Given the description of an element on the screen output the (x, y) to click on. 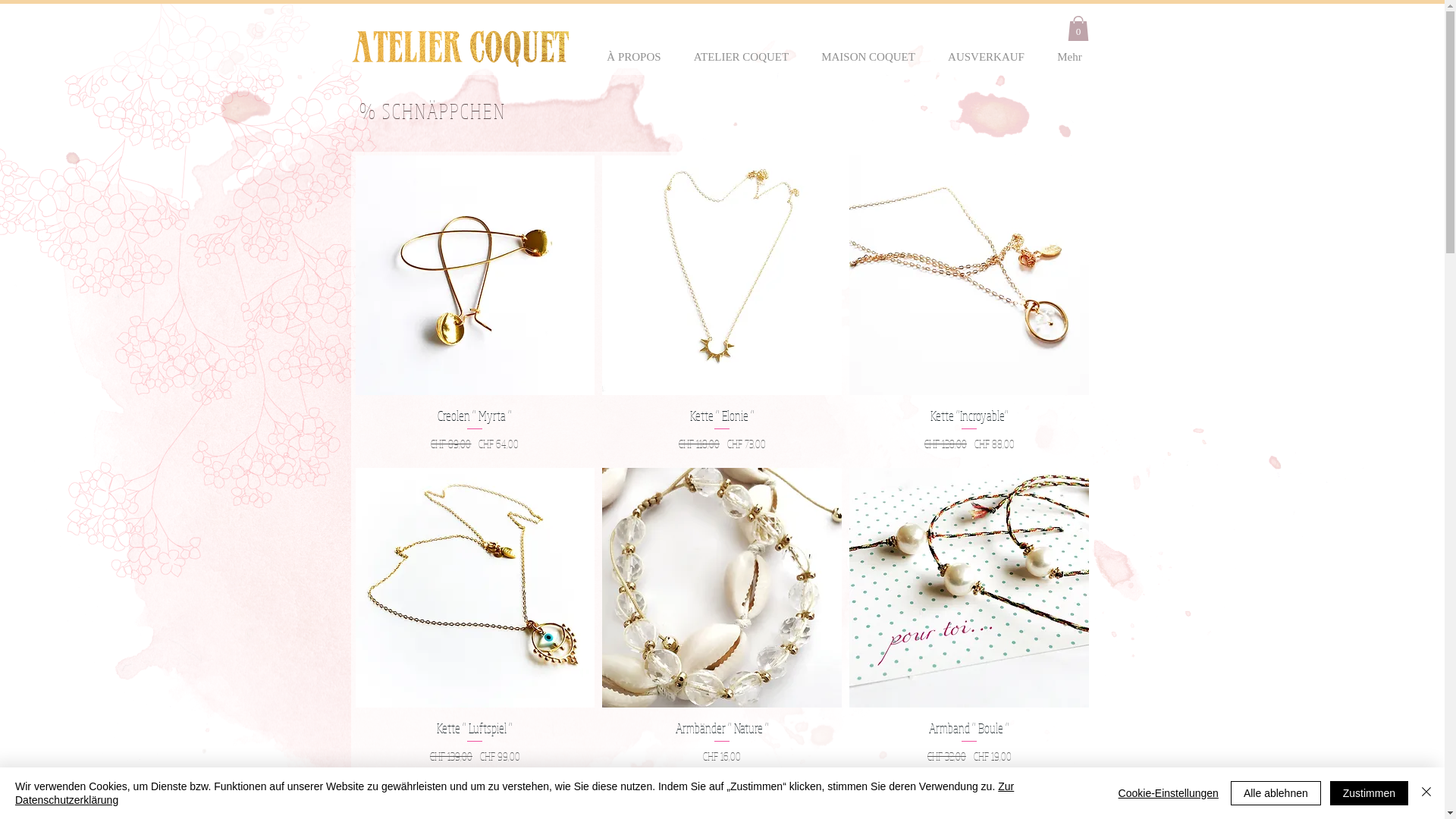
0 Element type: text (1077, 27)
Zustimmen Element type: text (1369, 793)
ac_logo_nurtext.png Element type: hover (459, 47)
Alle ablehnen Element type: text (1275, 793)
